Given the description of an element on the screen output the (x, y) to click on. 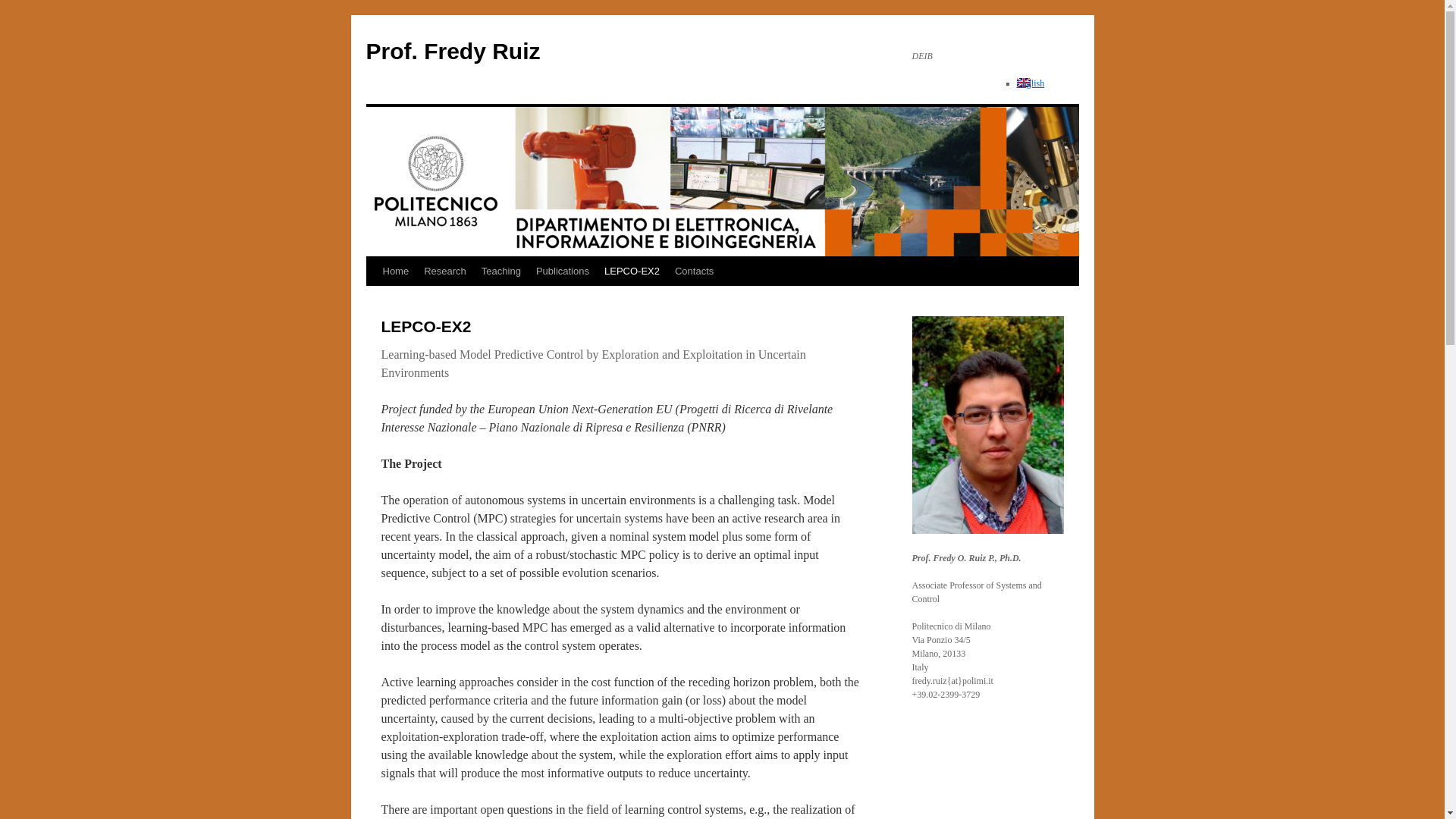
Publications (562, 271)
Prof. Fredy Ruiz (452, 50)
LEPCO-EX2 (631, 271)
Teaching (501, 271)
English (1029, 82)
Research (445, 271)
Contacts (693, 271)
Home (395, 271)
Prof. Fredy Ruiz (452, 50)
